Given the description of an element on the screen output the (x, y) to click on. 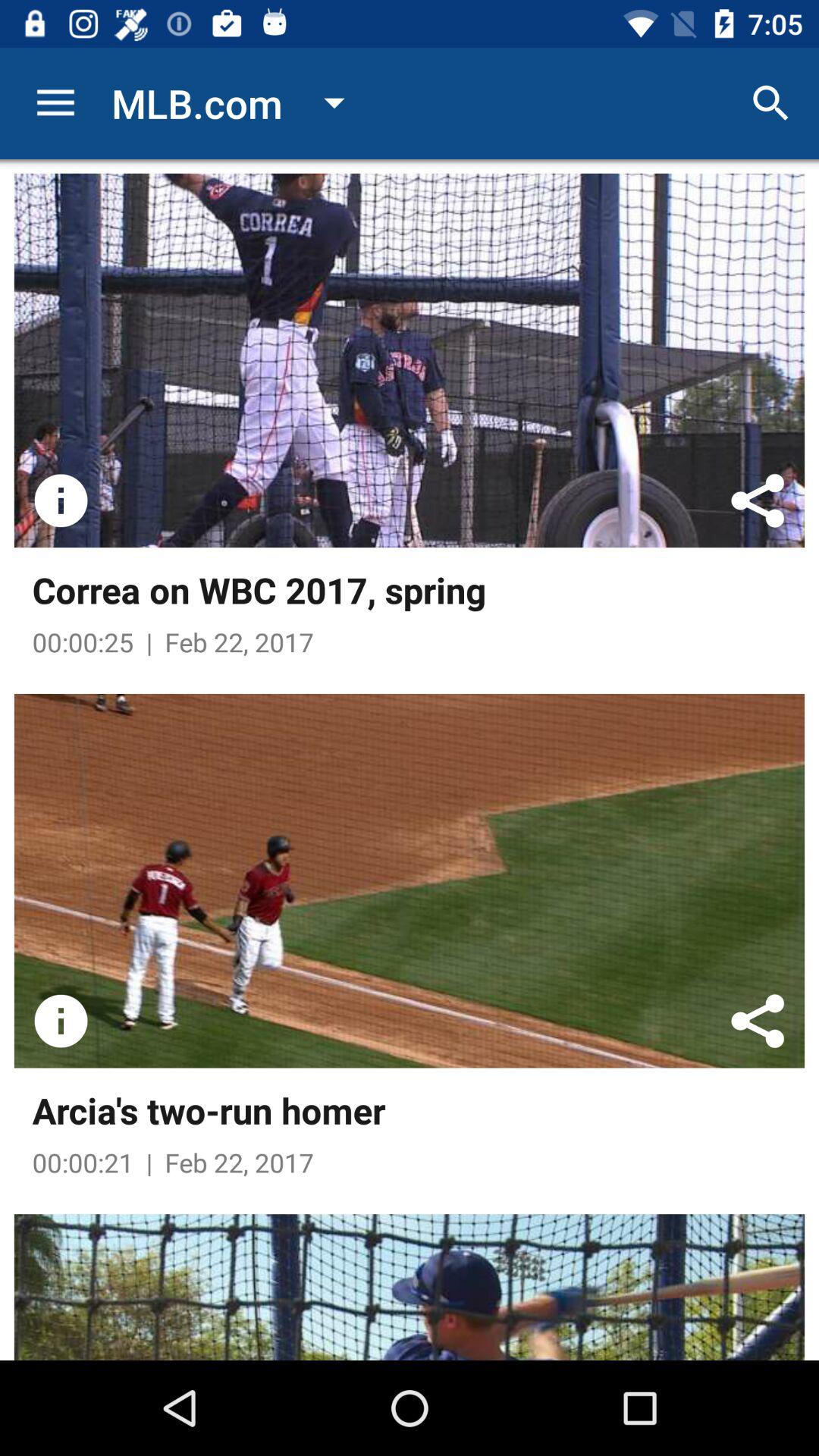
share page (757, 1021)
